Given the description of an element on the screen output the (x, y) to click on. 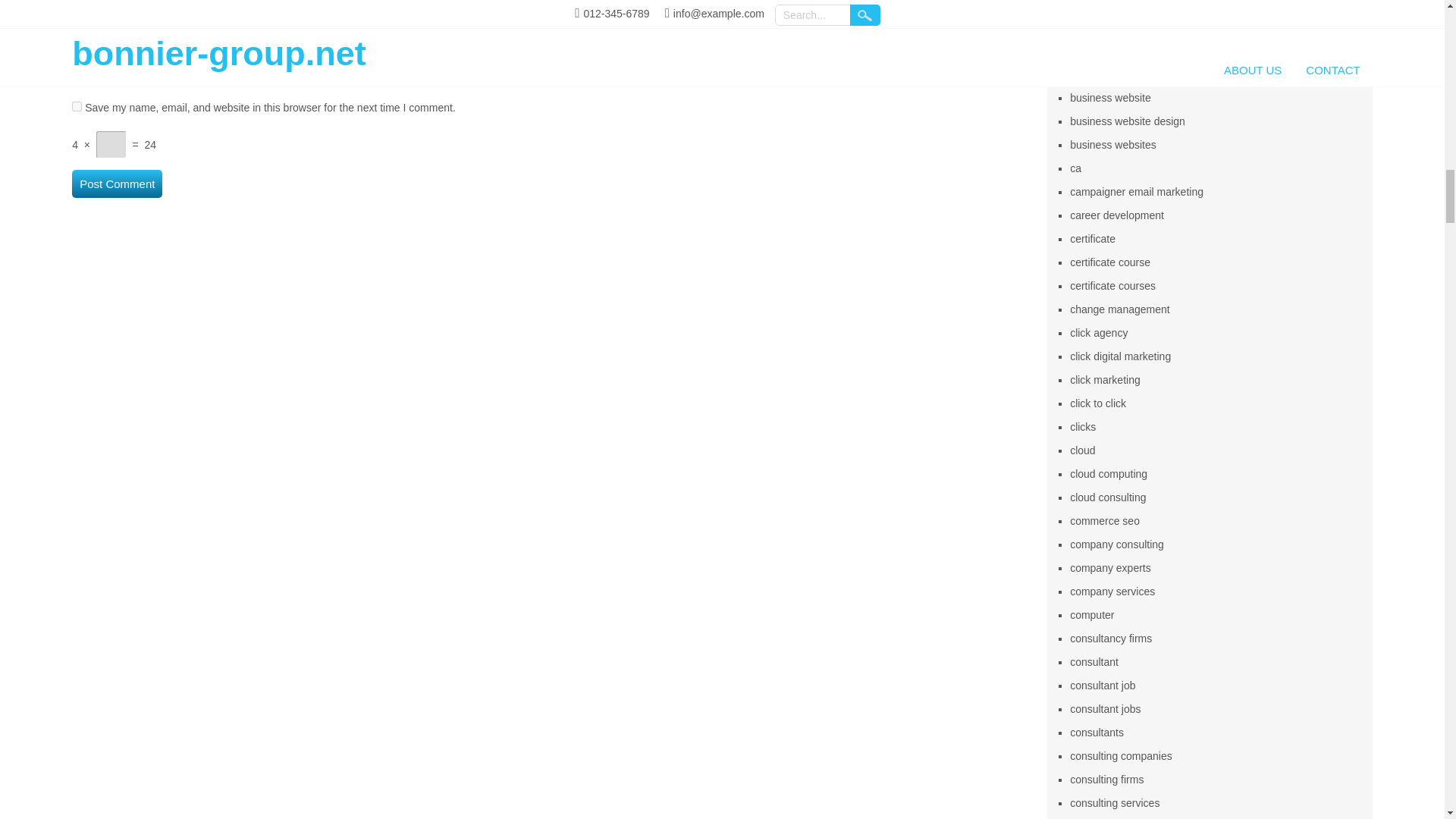
yes (76, 106)
Post Comment (116, 183)
Post Comment (116, 183)
